Given the description of an element on the screen output the (x, y) to click on. 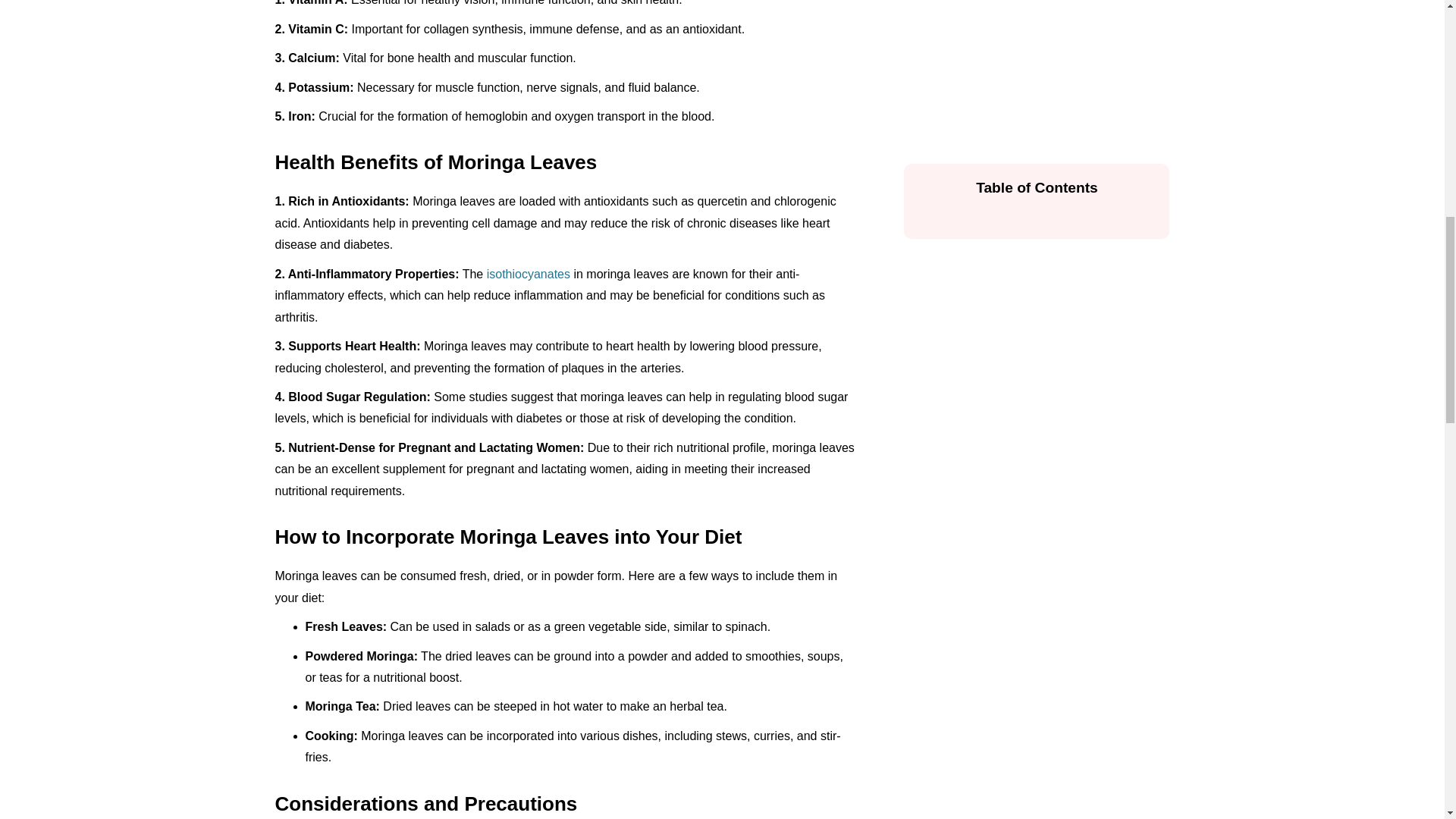
isothiocyanates (528, 273)
